Given the description of an element on the screen output the (x, y) to click on. 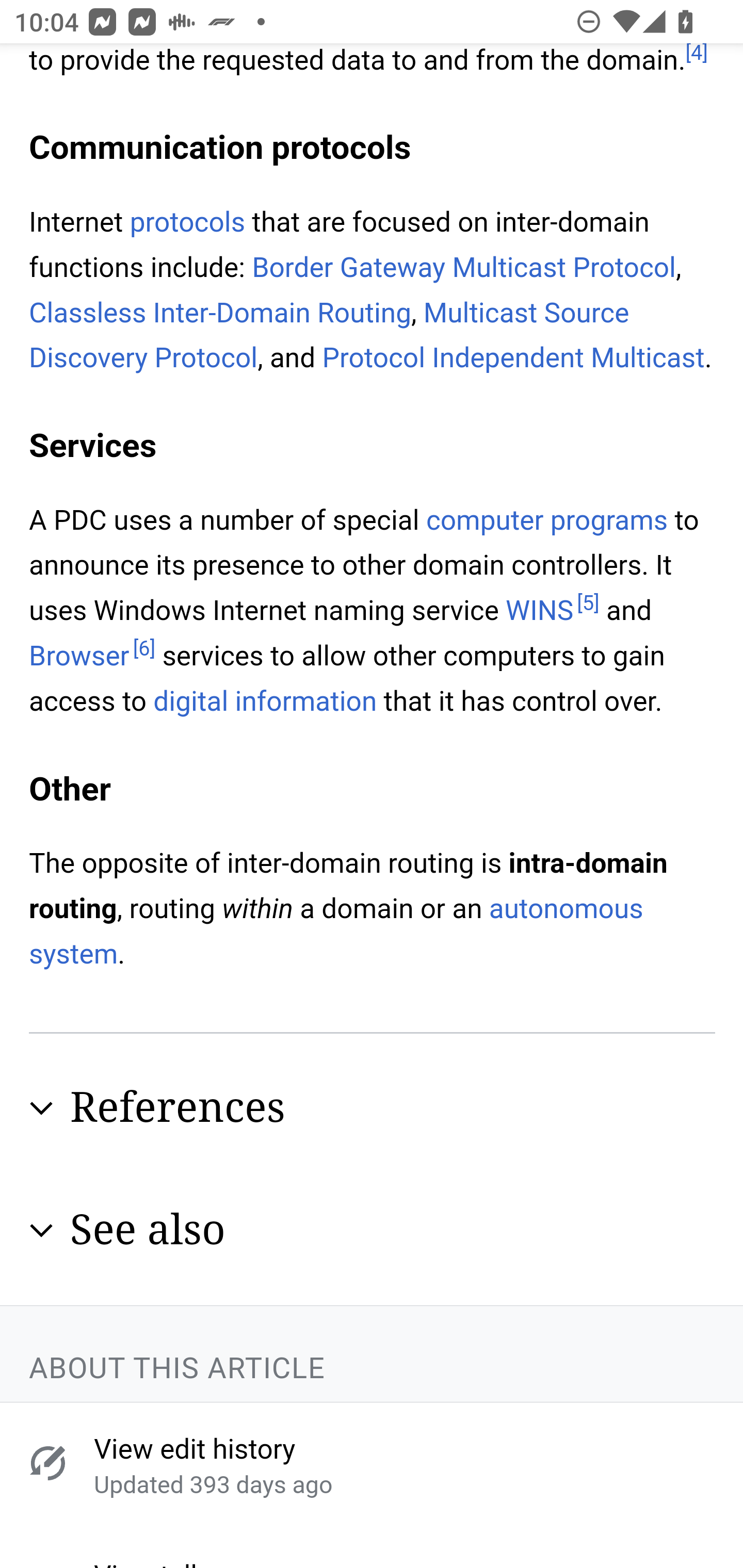
[] [ 4 ] (696, 56)
protocols (186, 223)
Border Gateway Multicast Protocol (463, 269)
Classless Inter-Domain Routing (220, 314)
Multicast Source Discovery Protocol (329, 336)
Protocol Independent Multicast (513, 359)
computer programs (546, 521)
[] [ 5 ] (587, 605)
WINS (539, 612)
[] [ 6 ] (143, 650)
Browser (79, 658)
digital information (264, 702)
autonomous system (336, 932)
Expand section References (372, 1109)
Expand section (41, 1110)
Expand section See also (372, 1232)
Expand section (41, 1231)
